Given the description of an element on the screen output the (x, y) to click on. 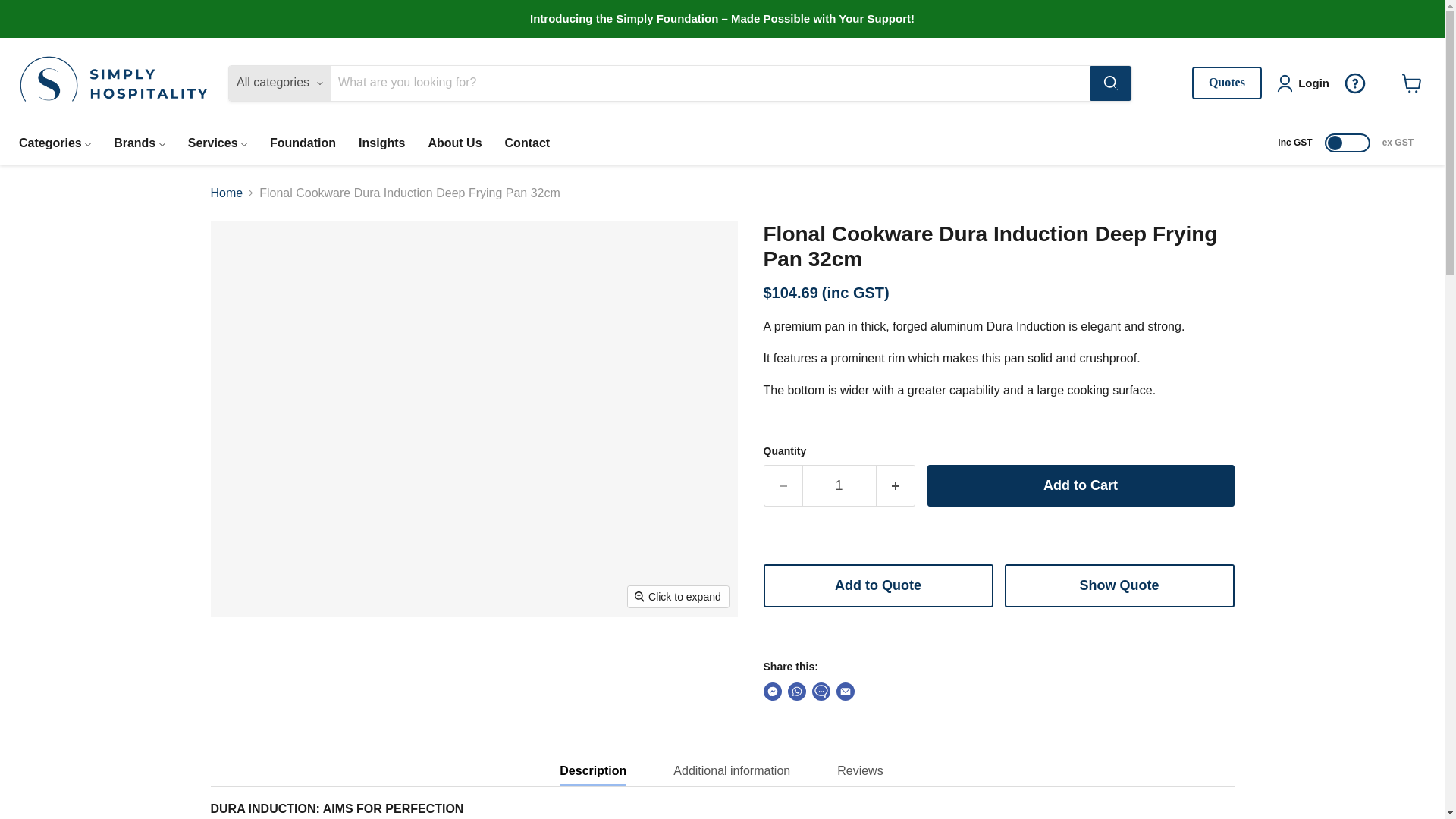
Quotes (1227, 82)
Login (1305, 83)
1 (839, 485)
View cart (1408, 82)
